Given the description of an element on the screen output the (x, y) to click on. 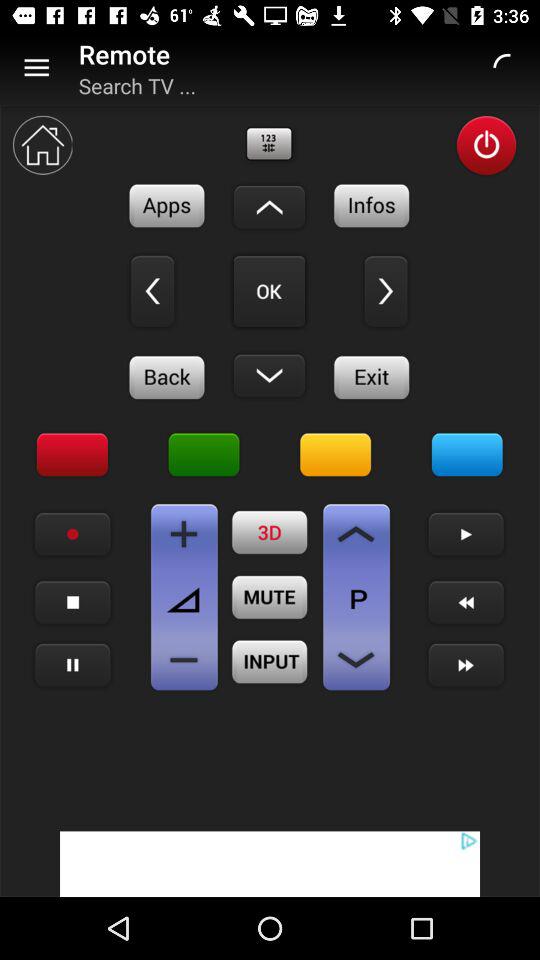
volume down button (183, 660)
